Given the description of an element on the screen output the (x, y) to click on. 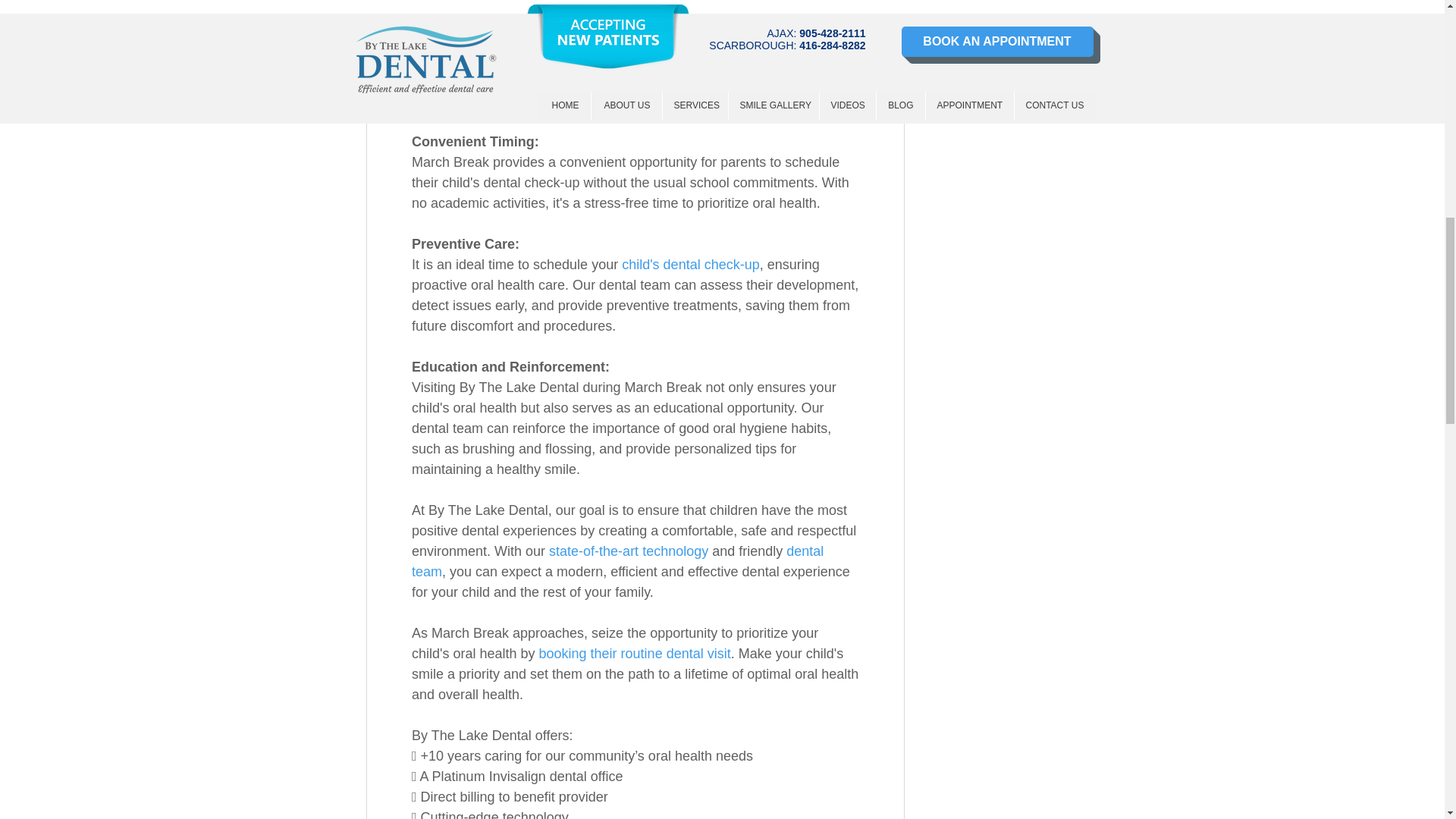
state-of-the-art technology (627, 550)
kids' hygiene appointments (527, 38)
booking their routine dental visit (634, 653)
child's dental check-up (690, 264)
dental team (618, 561)
